Given the description of an element on the screen output the (x, y) to click on. 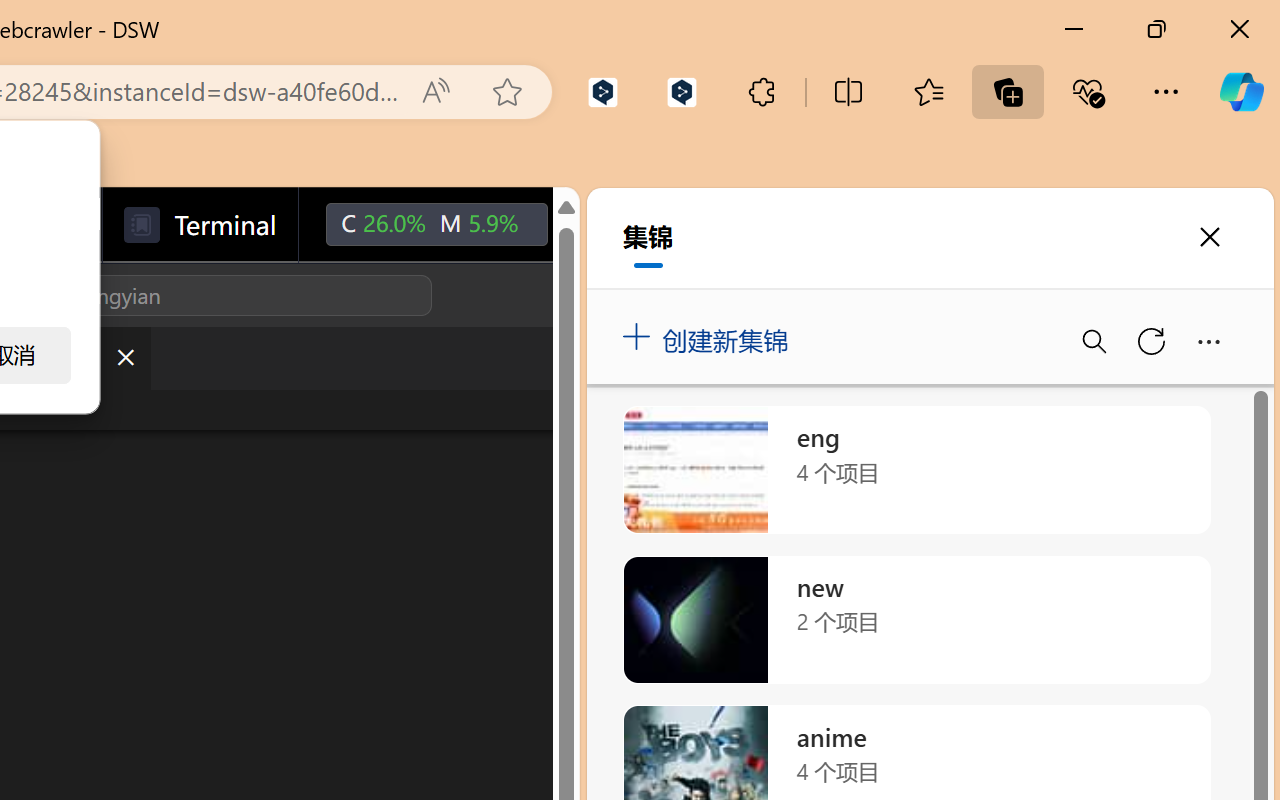
C26.0% M5.9% (435, 225)
icon (591, 224)
Copilot (Ctrl+Shift+.) (1241, 91)
